Given the description of an element on the screen output the (x, y) to click on. 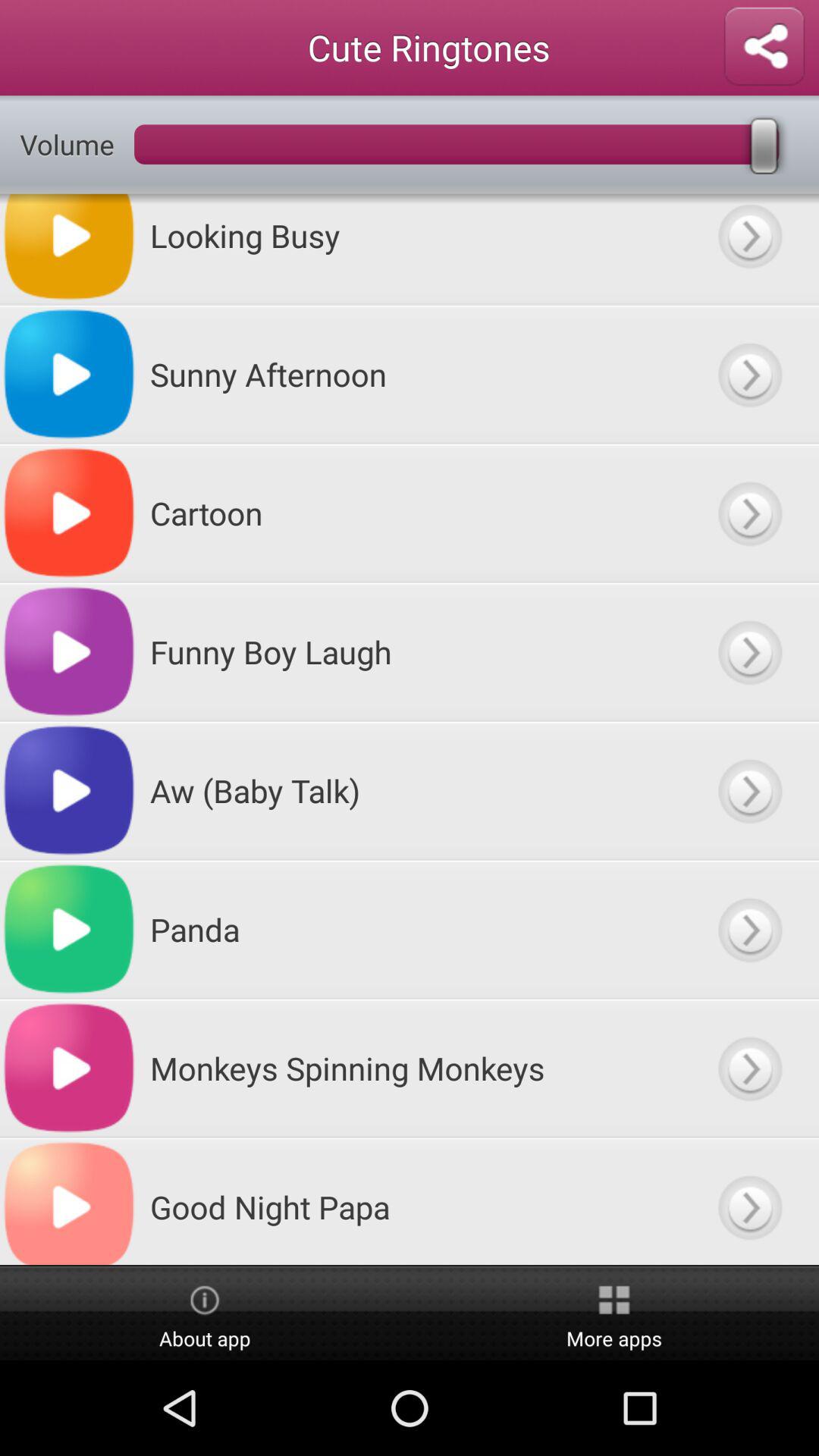
go to next user (749, 513)
